Given the description of an element on the screen output the (x, y) to click on. 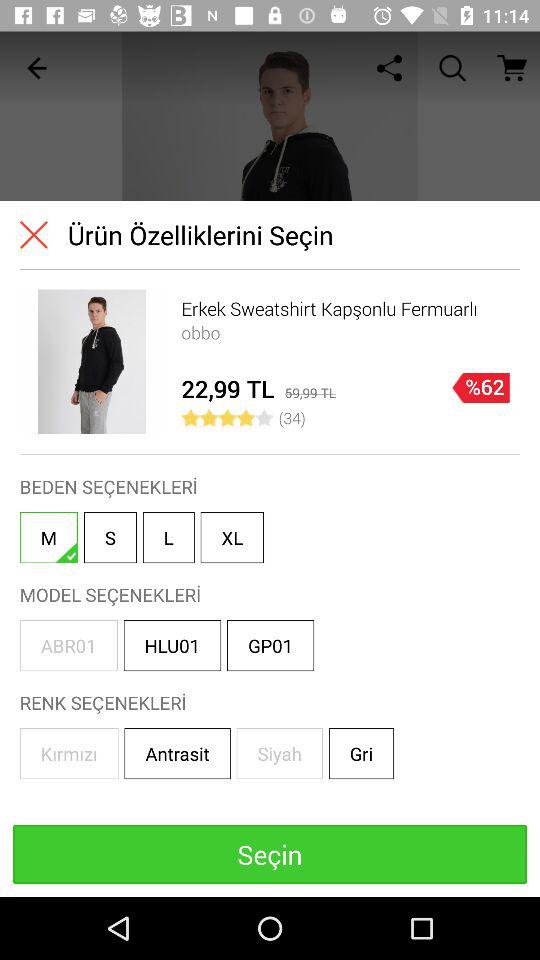
open icon to the left of the l (110, 537)
